Given the description of an element on the screen output the (x, y) to click on. 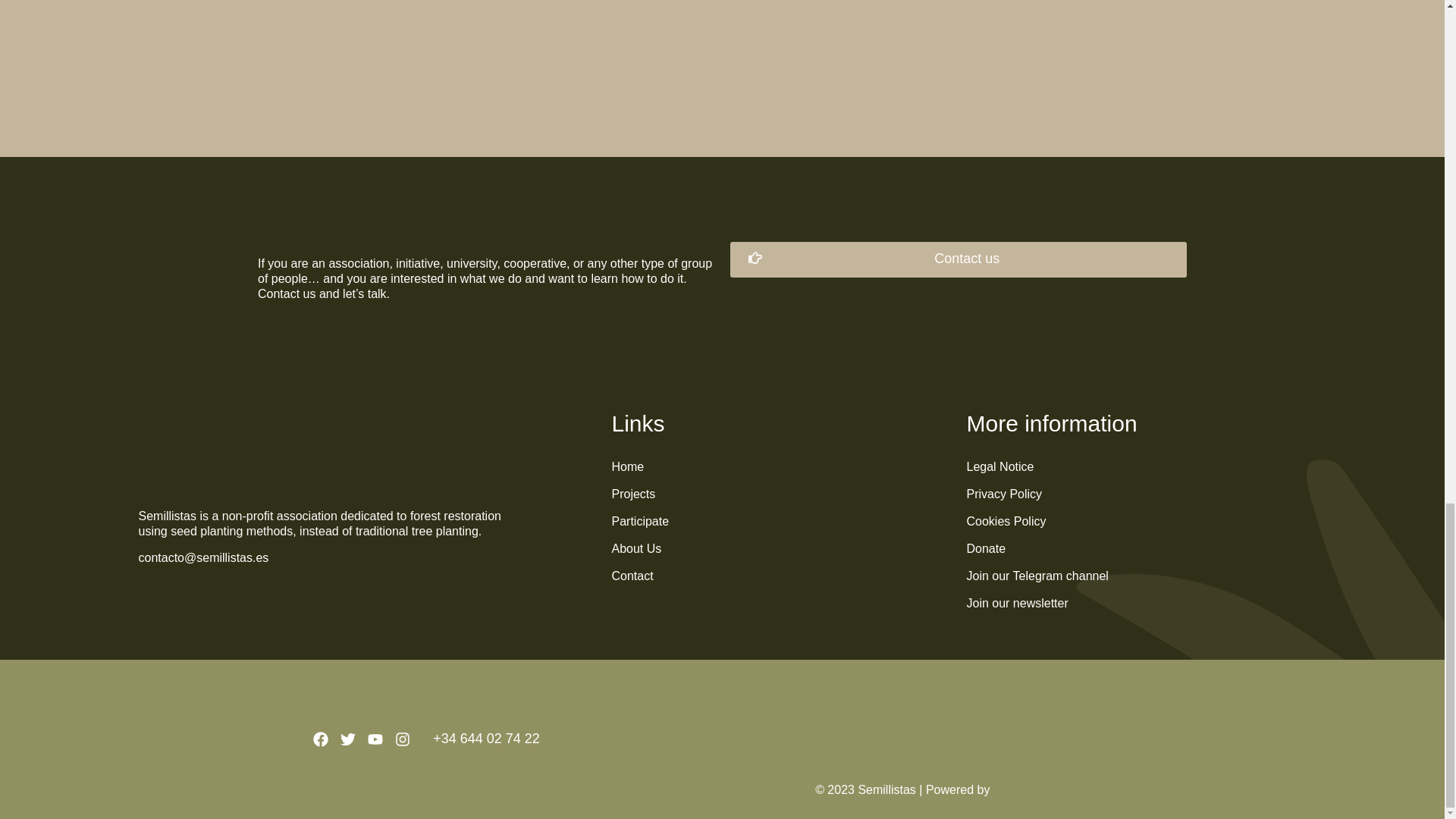
LogoSemillistasConTexto (226, 473)
